Given the description of an element on the screen output the (x, y) to click on. 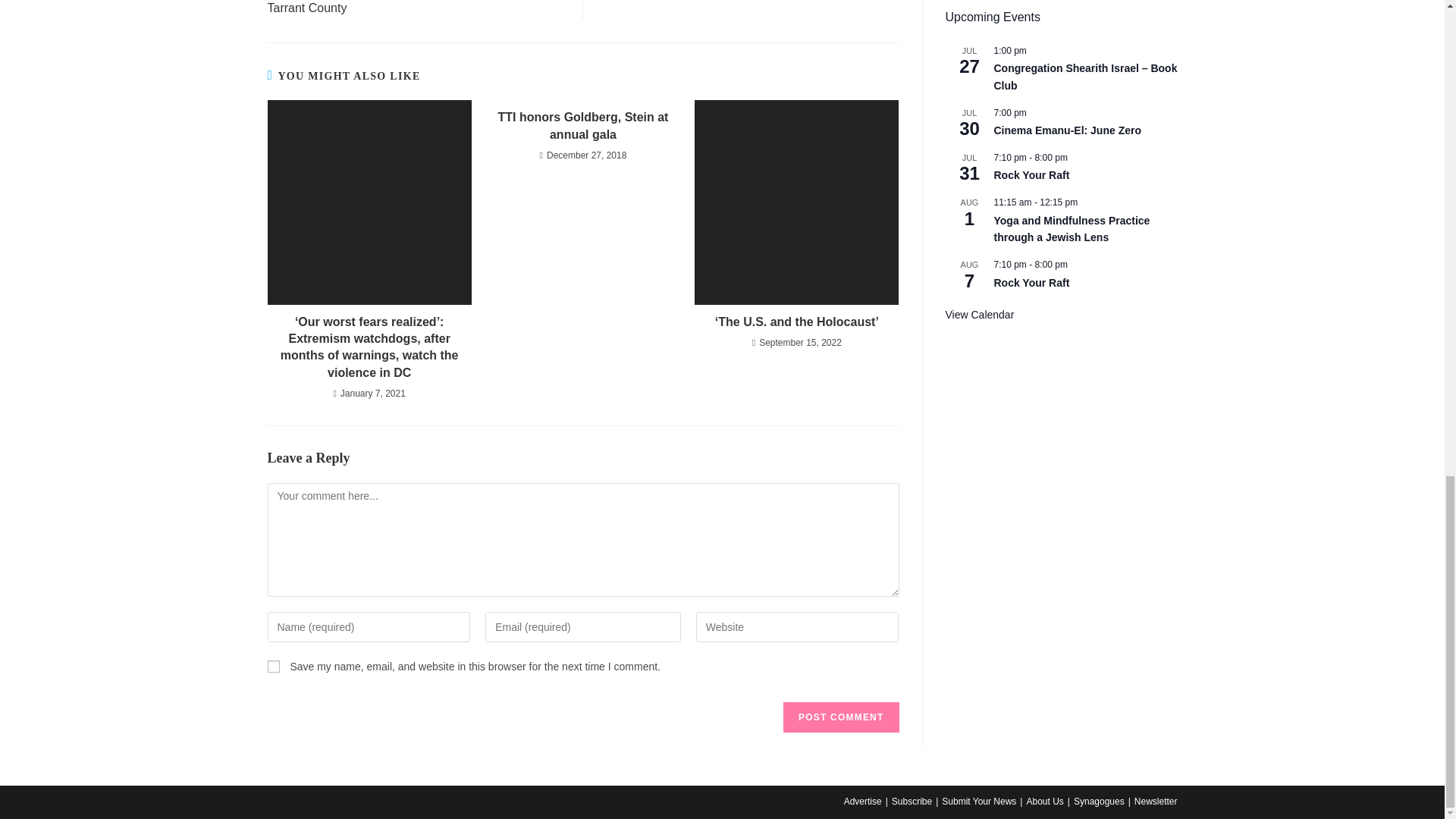
Cinema Emanu-El: June Zero (1066, 130)
View more events. (978, 314)
yes (272, 666)
Yoga and Mindfulness Practice through a Jewish Lens (1071, 229)
Post Comment (840, 716)
Rock Your Raft (1030, 174)
Rock Your Raft (1030, 282)
